Given the description of an element on the screen output the (x, y) to click on. 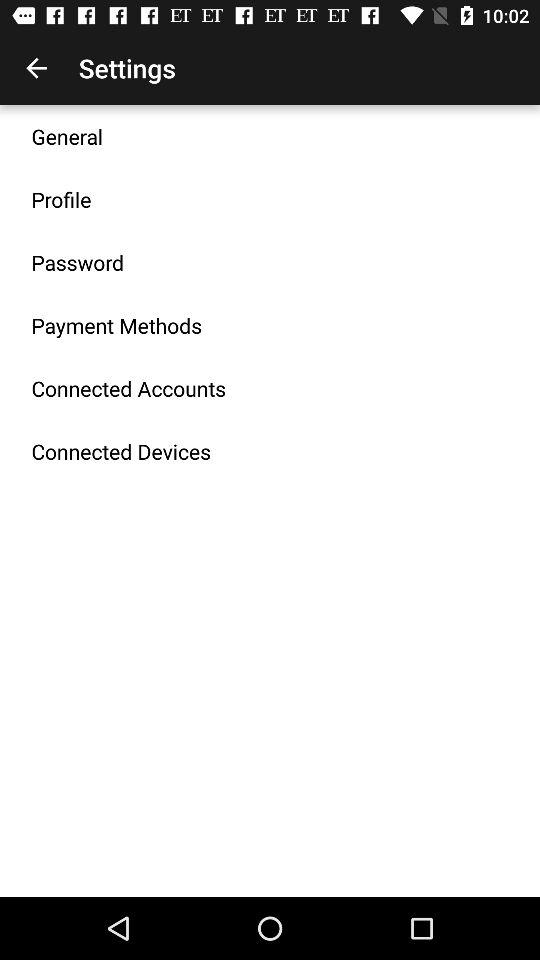
choose the item above the connected accounts (116, 325)
